Given the description of an element on the screen output the (x, y) to click on. 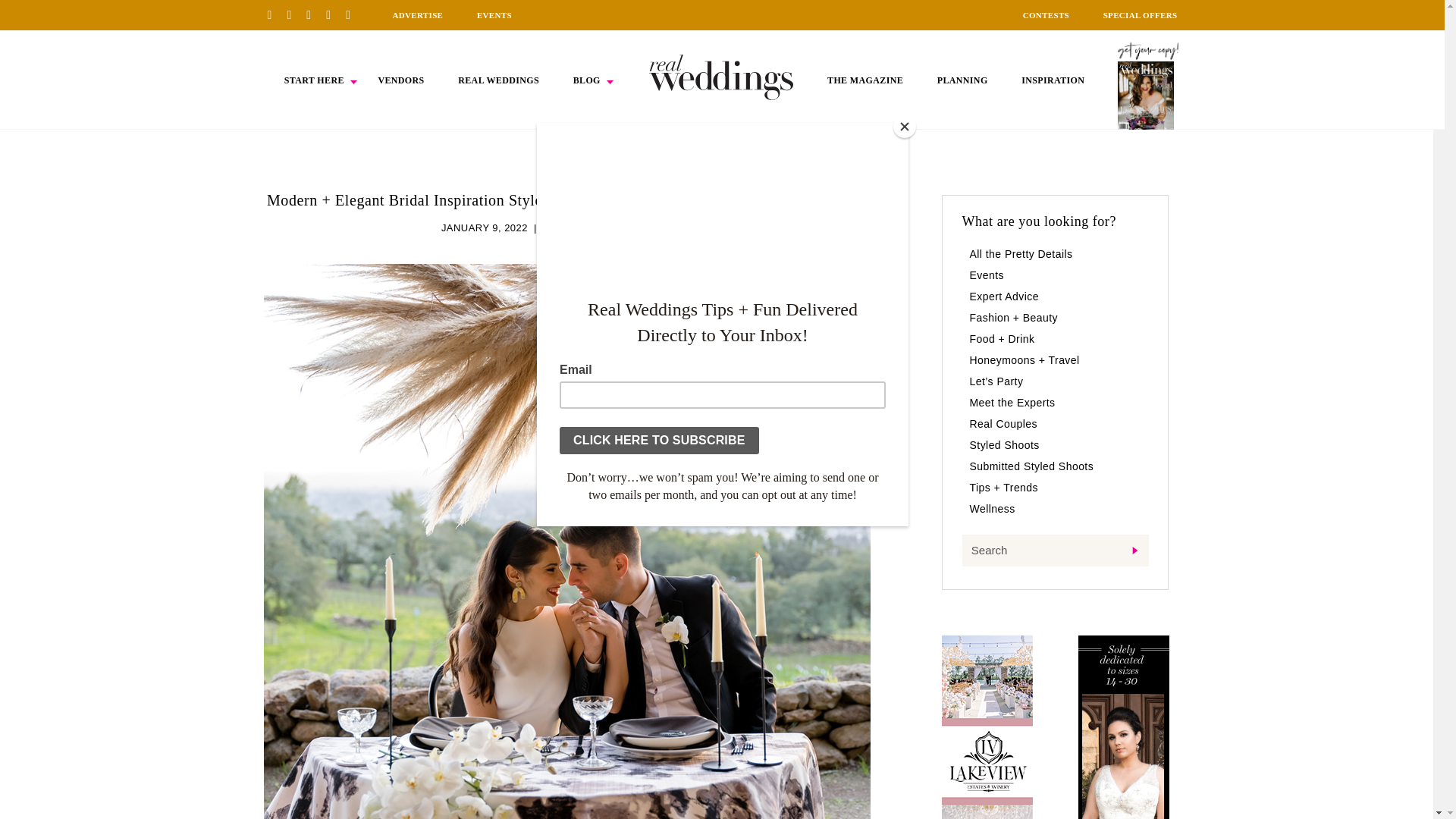
START HERE (313, 80)
VENDORS (400, 80)
CONTESTS (1045, 14)
REAL WEDDINGS (498, 80)
EVENTS (494, 14)
Search (1054, 550)
PLANNING (962, 80)
ADVERTISE (416, 14)
Search (1054, 550)
THE MAGAZINE (864, 80)
YouTube (353, 14)
SPECIAL OFFERS (1140, 14)
Instagram (313, 14)
SUBMITTED STYLED SHOOTS (618, 227)
INSPIRATION (1053, 80)
